Given the description of an element on the screen output the (x, y) to click on. 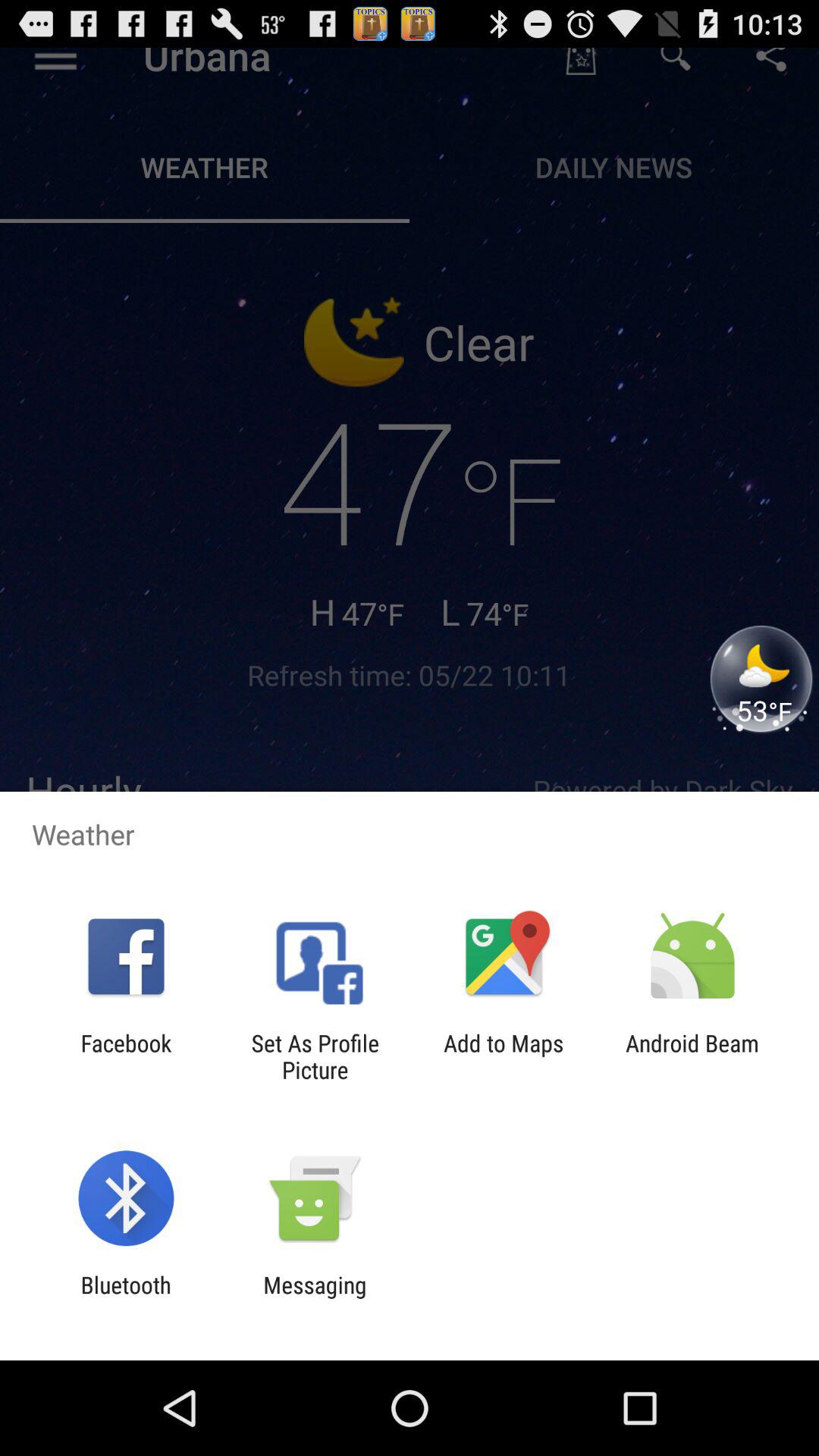
press android beam (692, 1056)
